Given the description of an element on the screen output the (x, y) to click on. 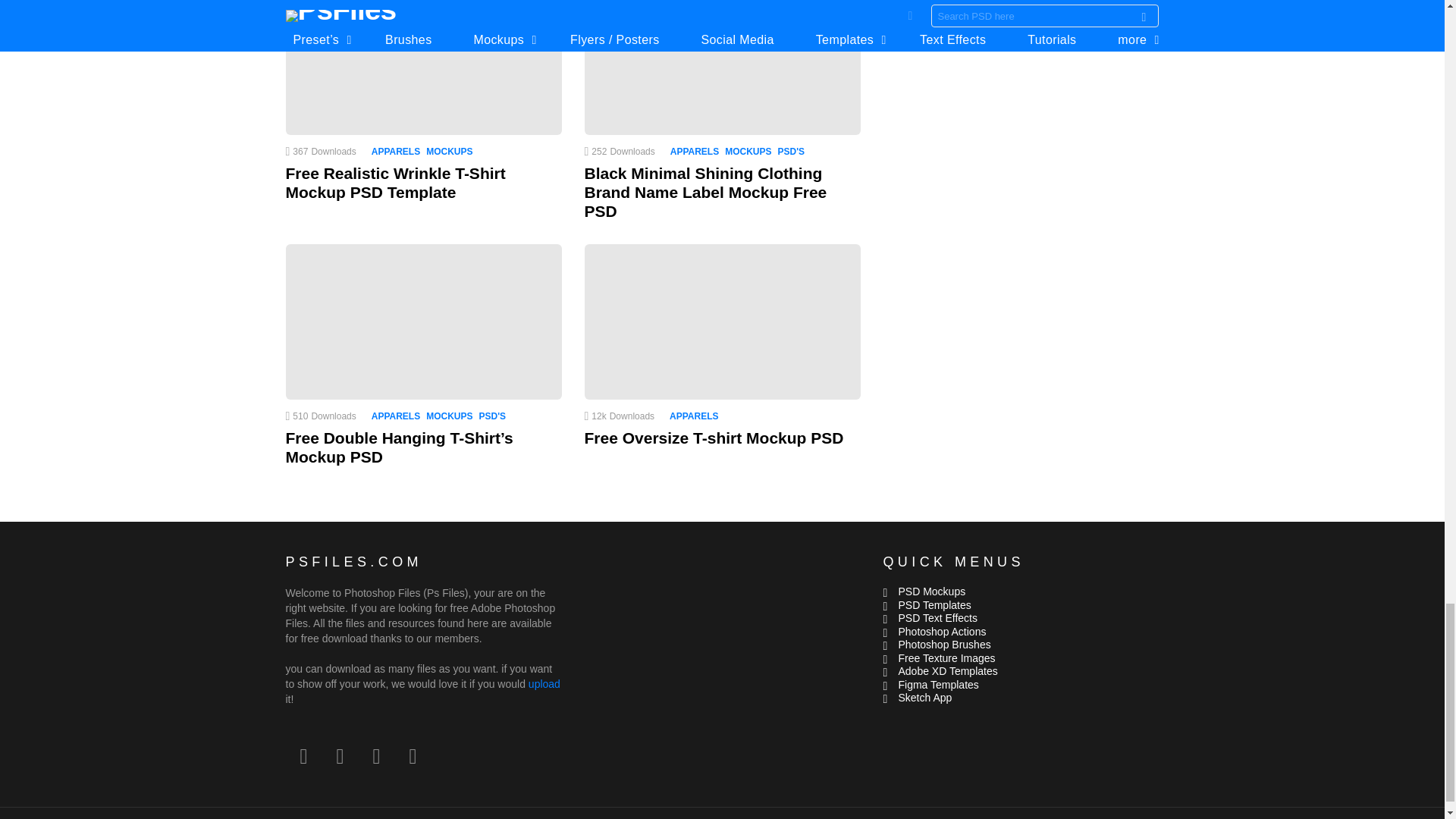
Free Oversize T-shirt Mockup PSD (721, 321)
Free Realistic Wrinkle T-Shirt Mockup PSD Template (422, 67)
